Given the description of an element on the screen output the (x, y) to click on. 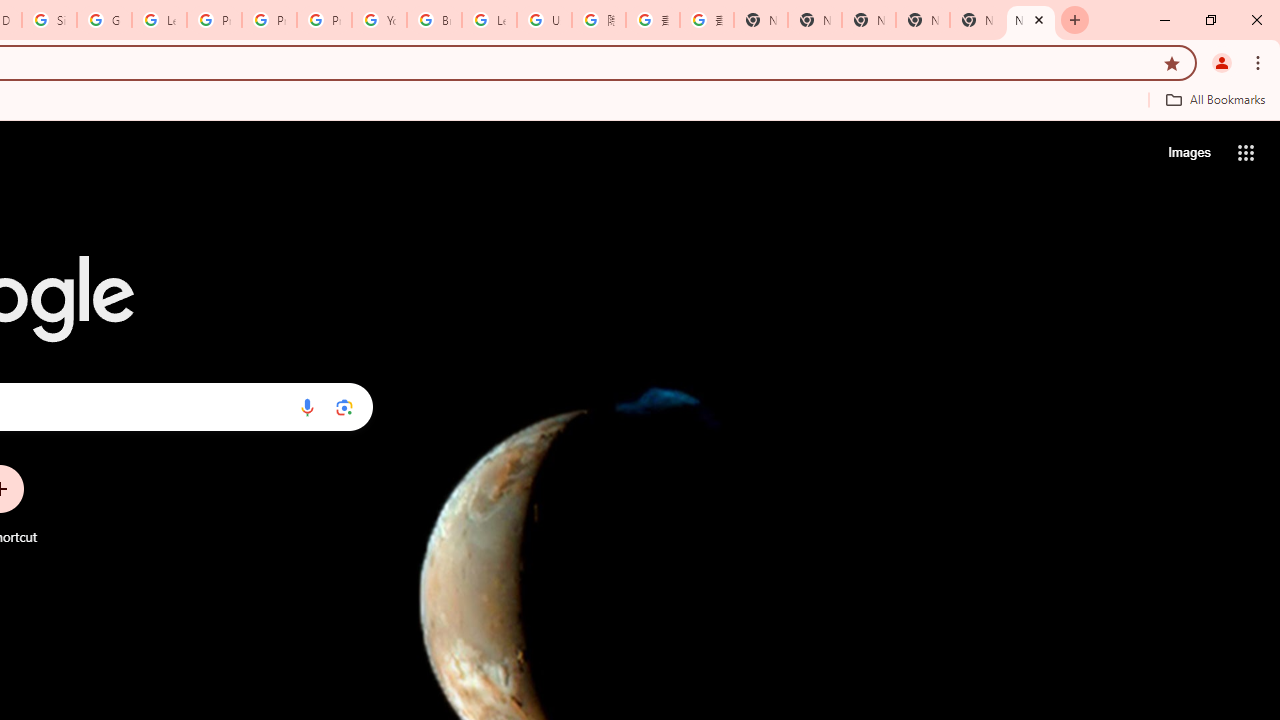
Privacy Help Center - Policies Help (213, 20)
YouTube (379, 20)
